Given the description of an element on the screen output the (x, y) to click on. 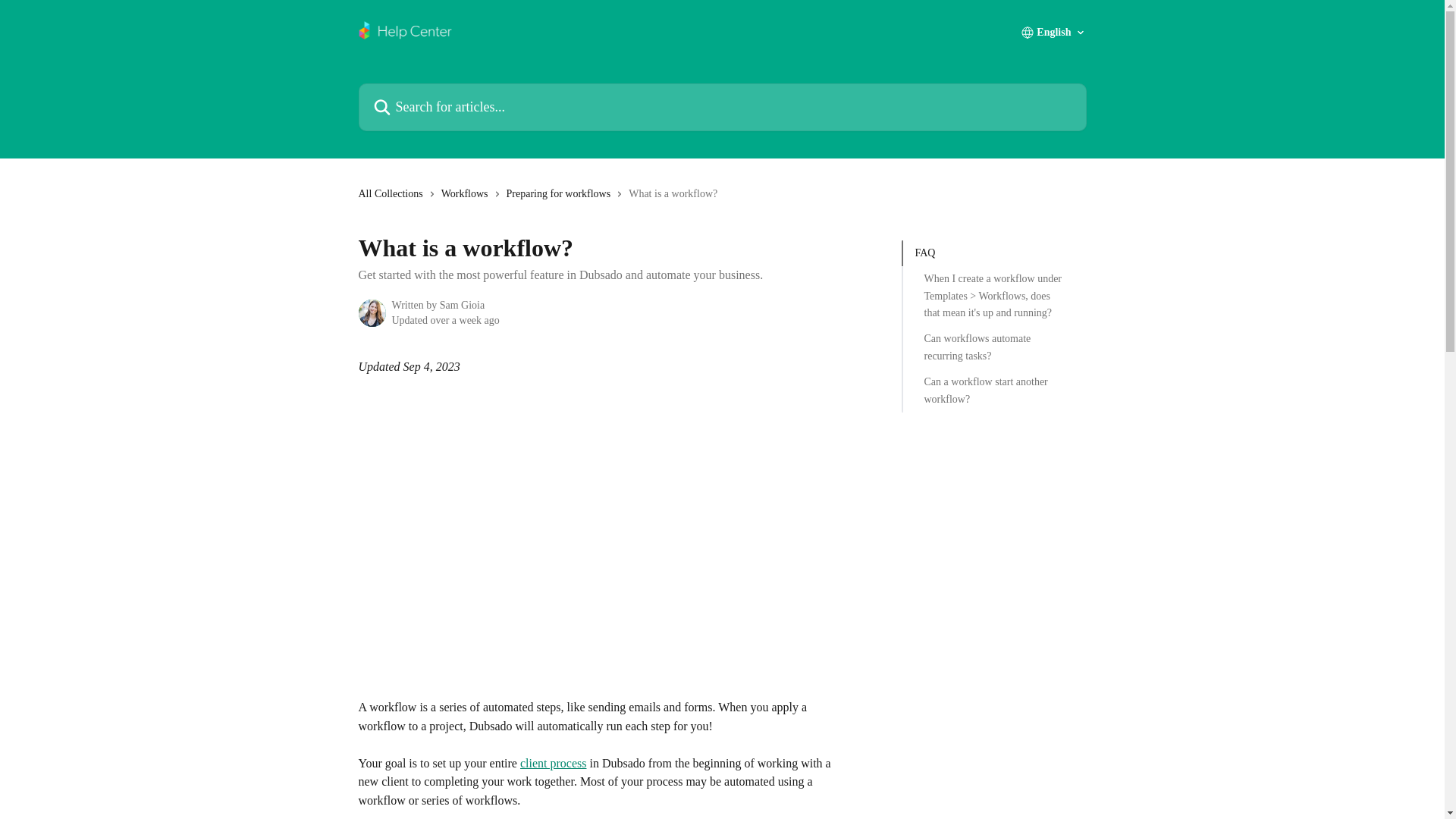
Can a workflow start another workflow? (993, 390)
Workflows (468, 193)
client process (552, 762)
FAQ (994, 252)
Preparing for workflows (561, 193)
All Collections (393, 193)
Can workflows automate recurring tasks? (993, 347)
